Given the description of an element on the screen output the (x, y) to click on. 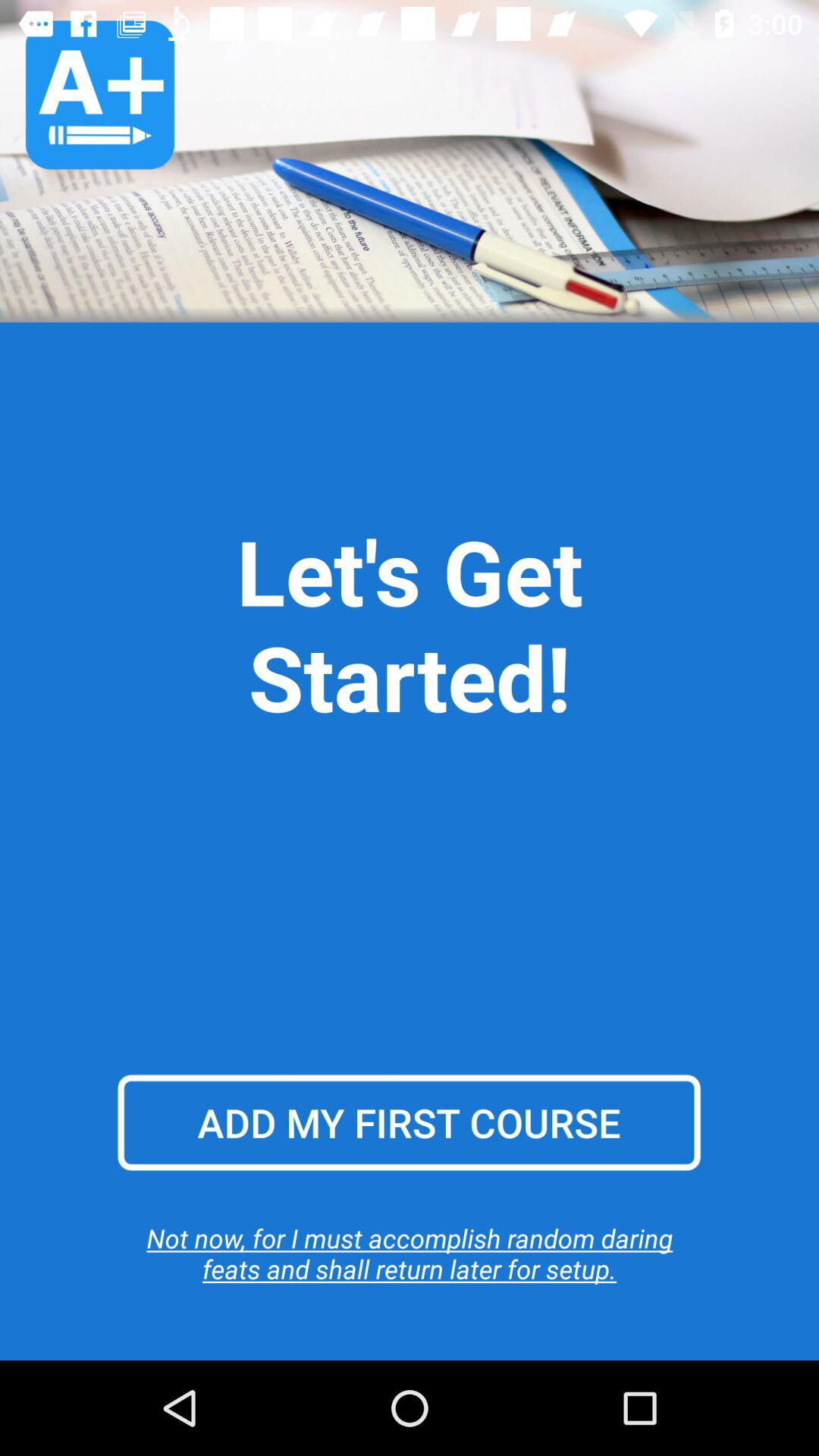
turn on the icon above not now for icon (408, 1122)
